Given the description of an element on the screen output the (x, y) to click on. 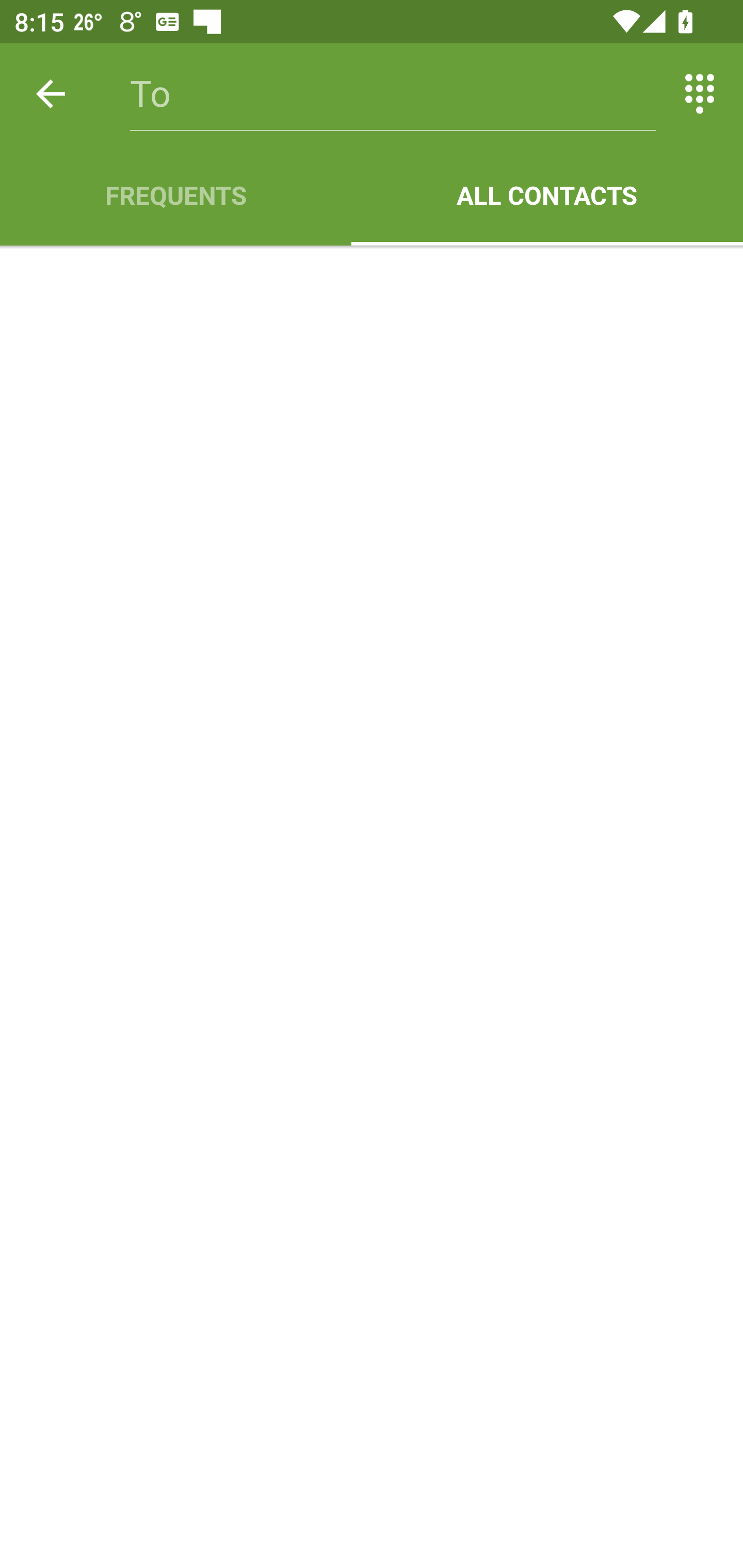
Back (50, 93)
Switch between entering text and numbers (699, 93)
To (393, 93)
FREQUENTS (175, 195)
ALL CONTACTS (547, 195)
